Given the description of an element on the screen output the (x, y) to click on. 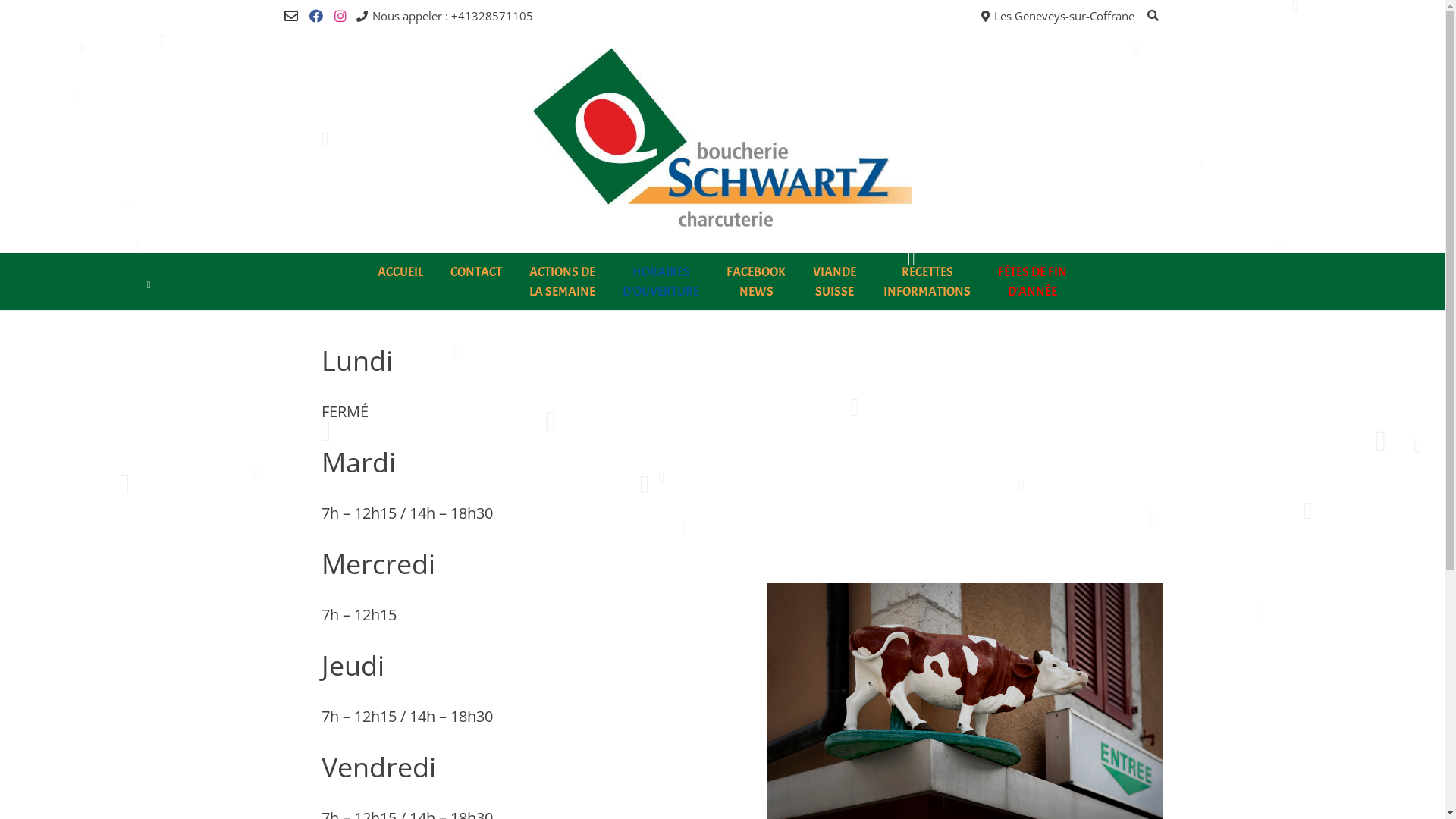
RECETTES
INFORMATIONS Element type: text (926, 281)
Nous envoyer un e-mail Element type: hover (290, 16)
Rechercher Element type: text (39, 13)
FACEBOOK
NEWS Element type: text (755, 281)
Nous suivre sur Instagram Element type: hover (339, 16)
ACCUEIL Element type: text (400, 272)
ACTIONS DE
LA SEMAINE Element type: text (561, 281)
Nous trouver sur Facebook Element type: hover (315, 16)
VIANDE
SUISSE Element type: text (834, 281)
CONTACT Element type: text (475, 272)
